Given the description of an element on the screen output the (x, y) to click on. 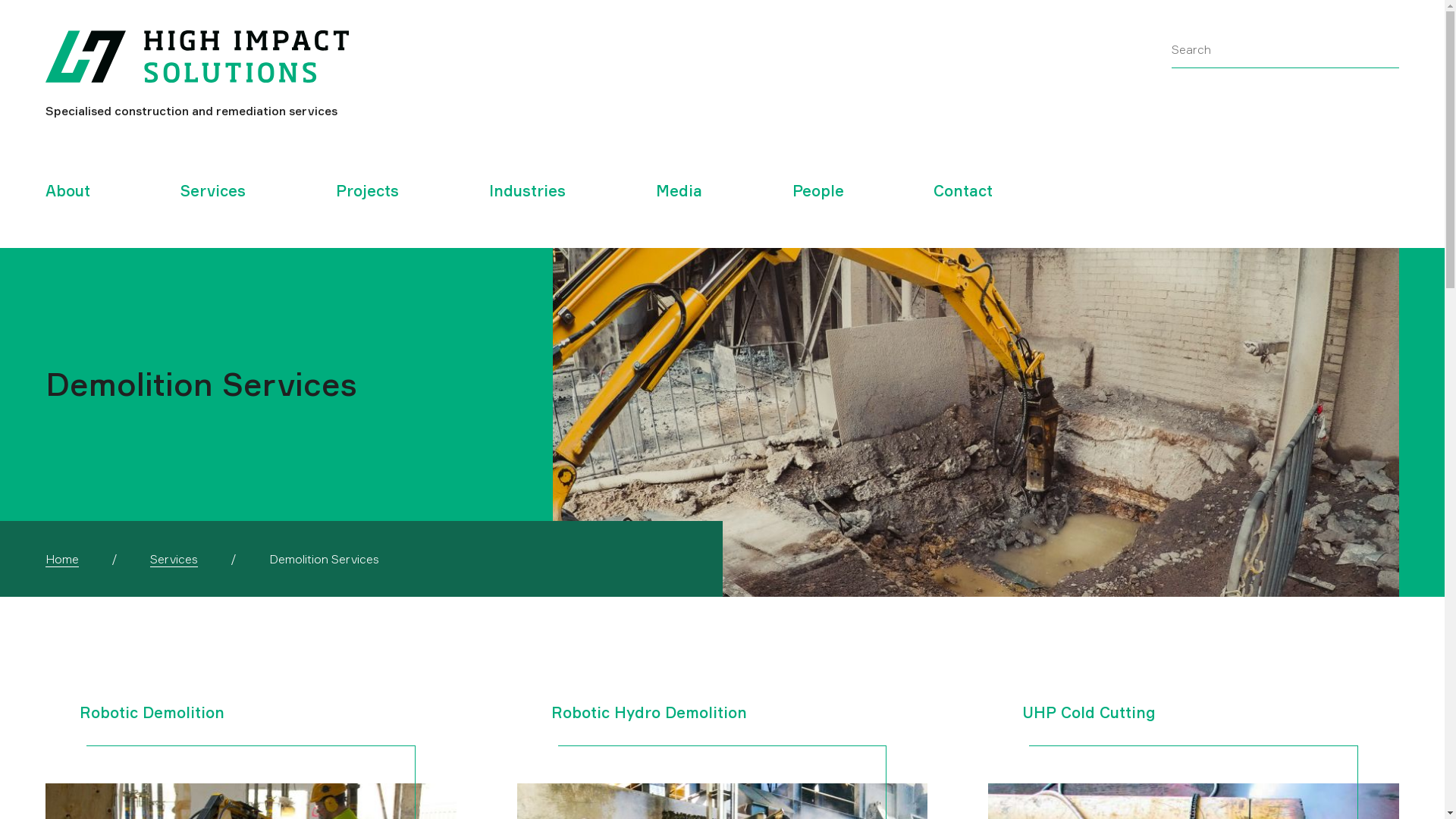
Services Element type: text (212, 190)
Contact Element type: text (962, 190)
Media Element type: text (678, 190)
About Element type: text (67, 190)
Home Element type: text (61, 559)
People Element type: text (818, 190)
Industries Element type: text (527, 190)
Projects Element type: text (366, 190)
Submit search query Element type: text (1386, 49)
Services Element type: text (173, 559)
